Given the description of an element on the screen output the (x, y) to click on. 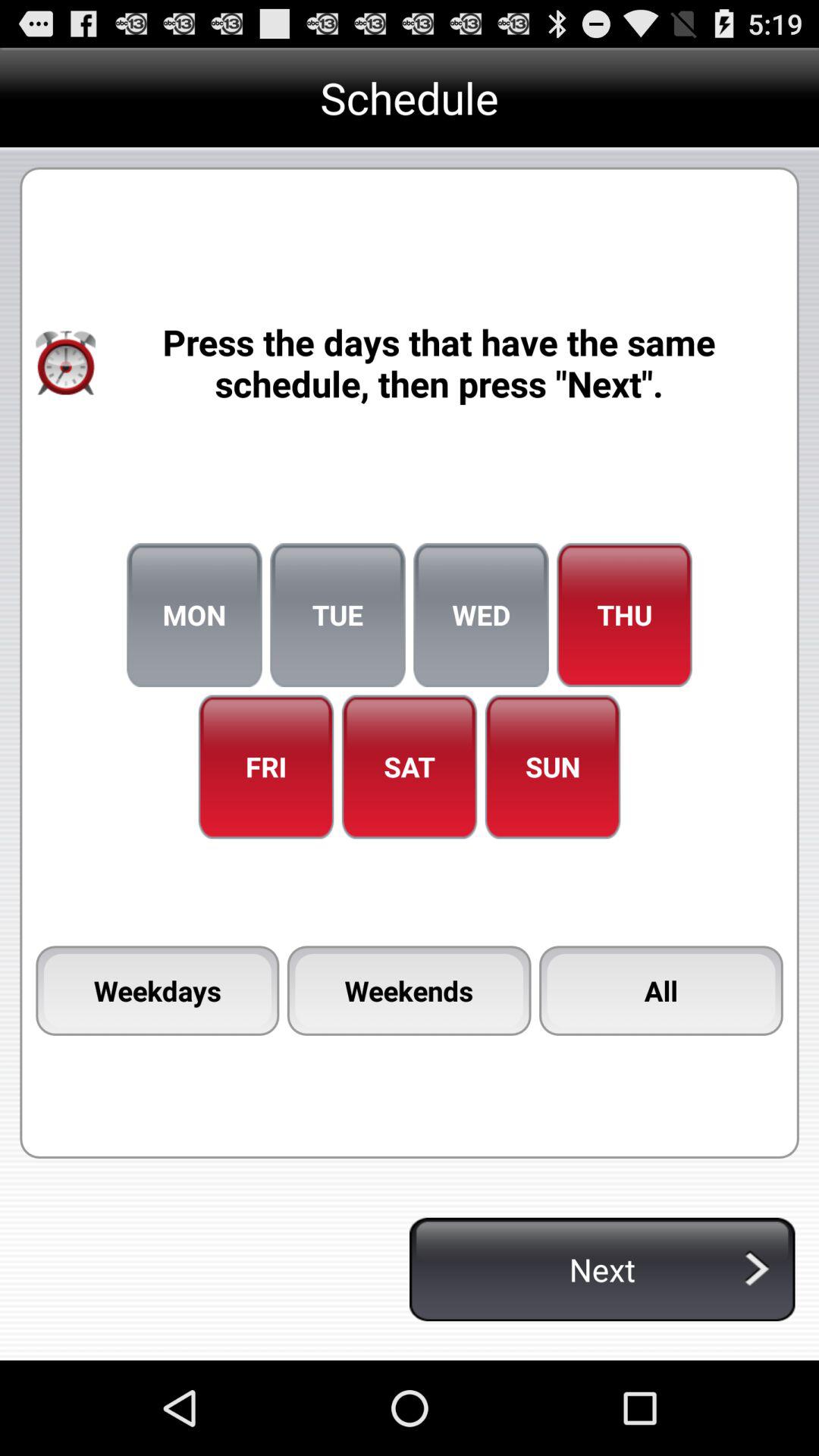
choose item below the press the days app (624, 615)
